Given the description of an element on the screen output the (x, y) to click on. 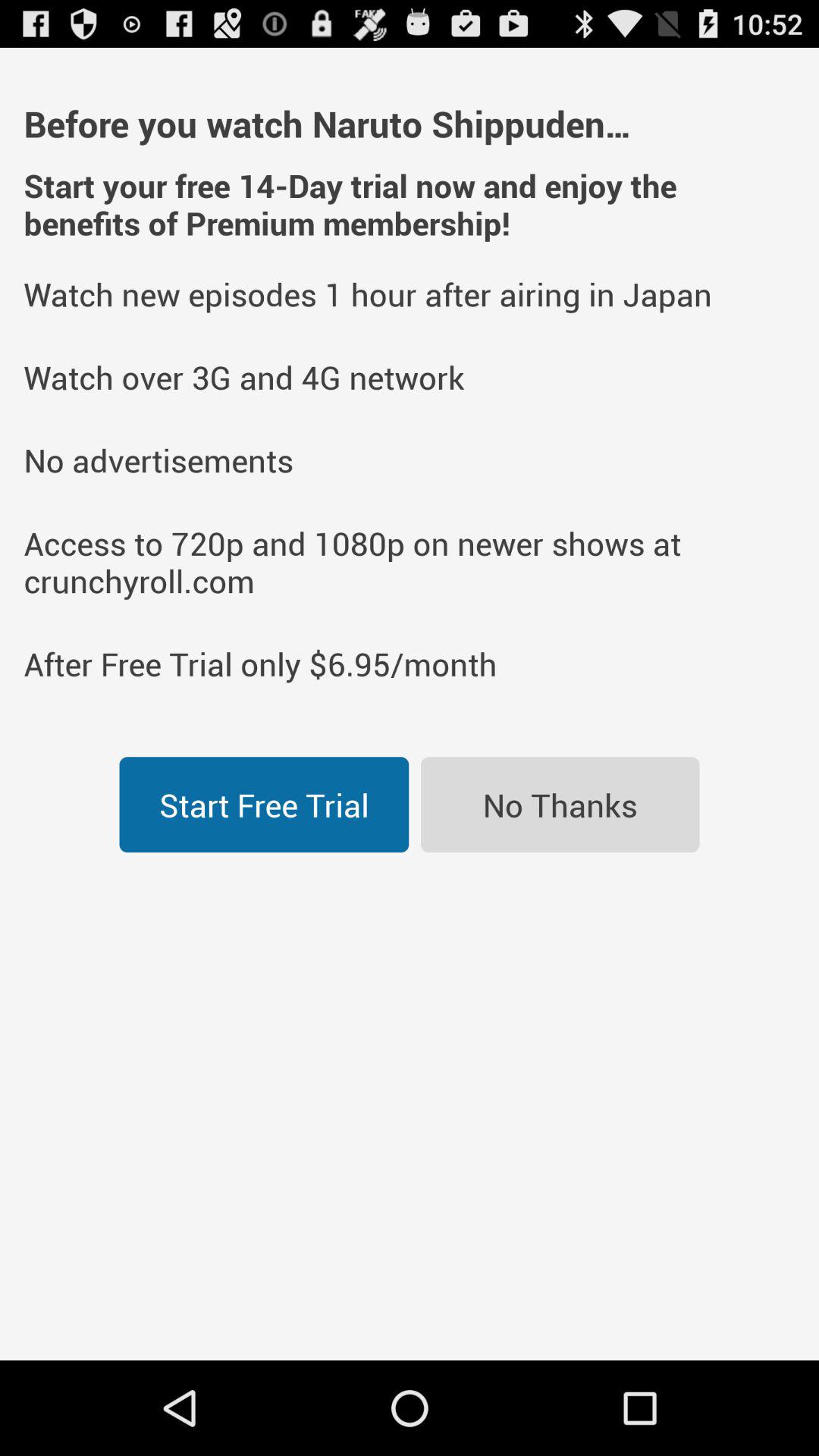
jump until the no thanks item (559, 804)
